Given the description of an element on the screen output the (x, y) to click on. 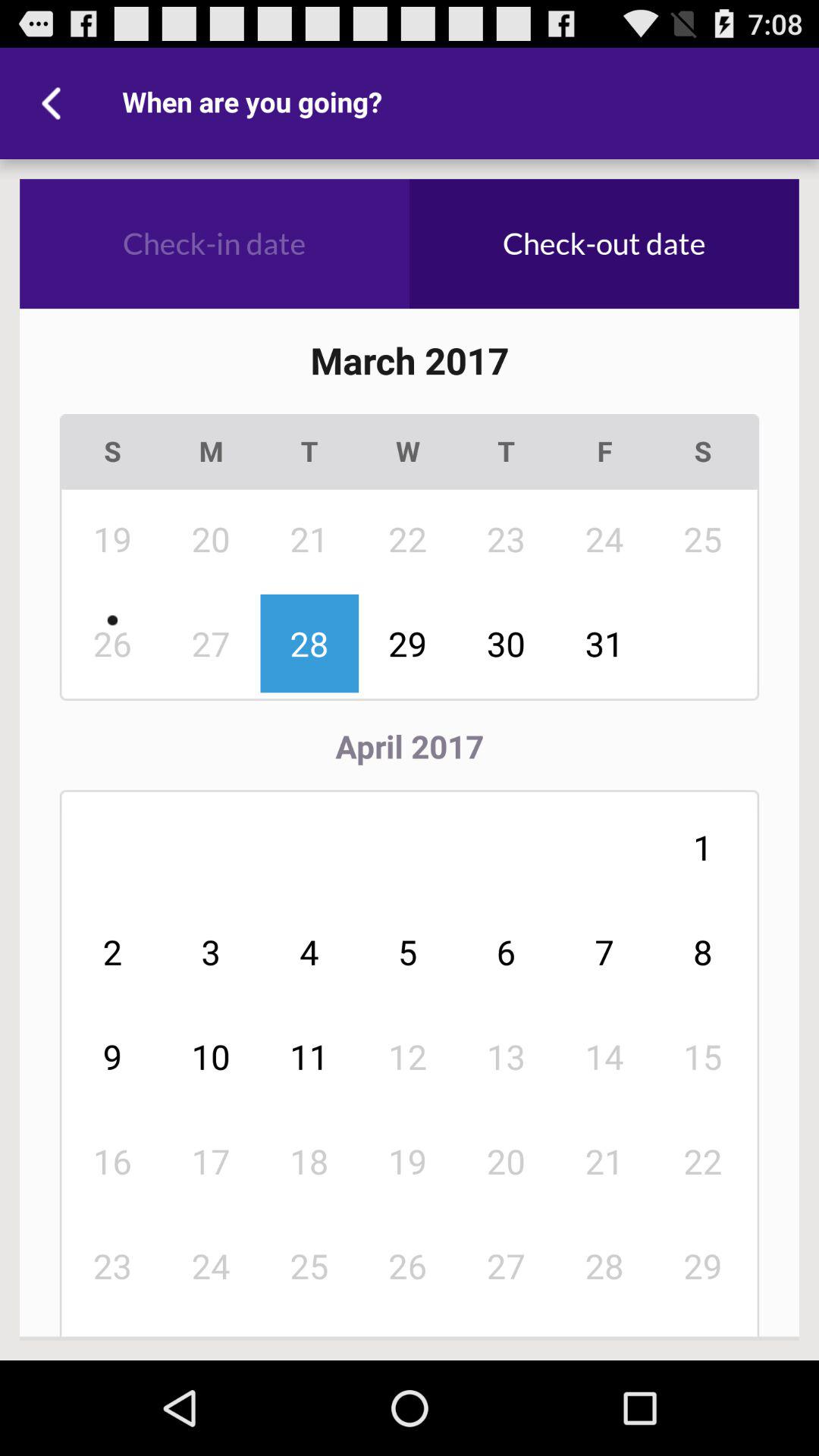
open item below march 2017 (211, 451)
